Given the description of an element on the screen output the (x, y) to click on. 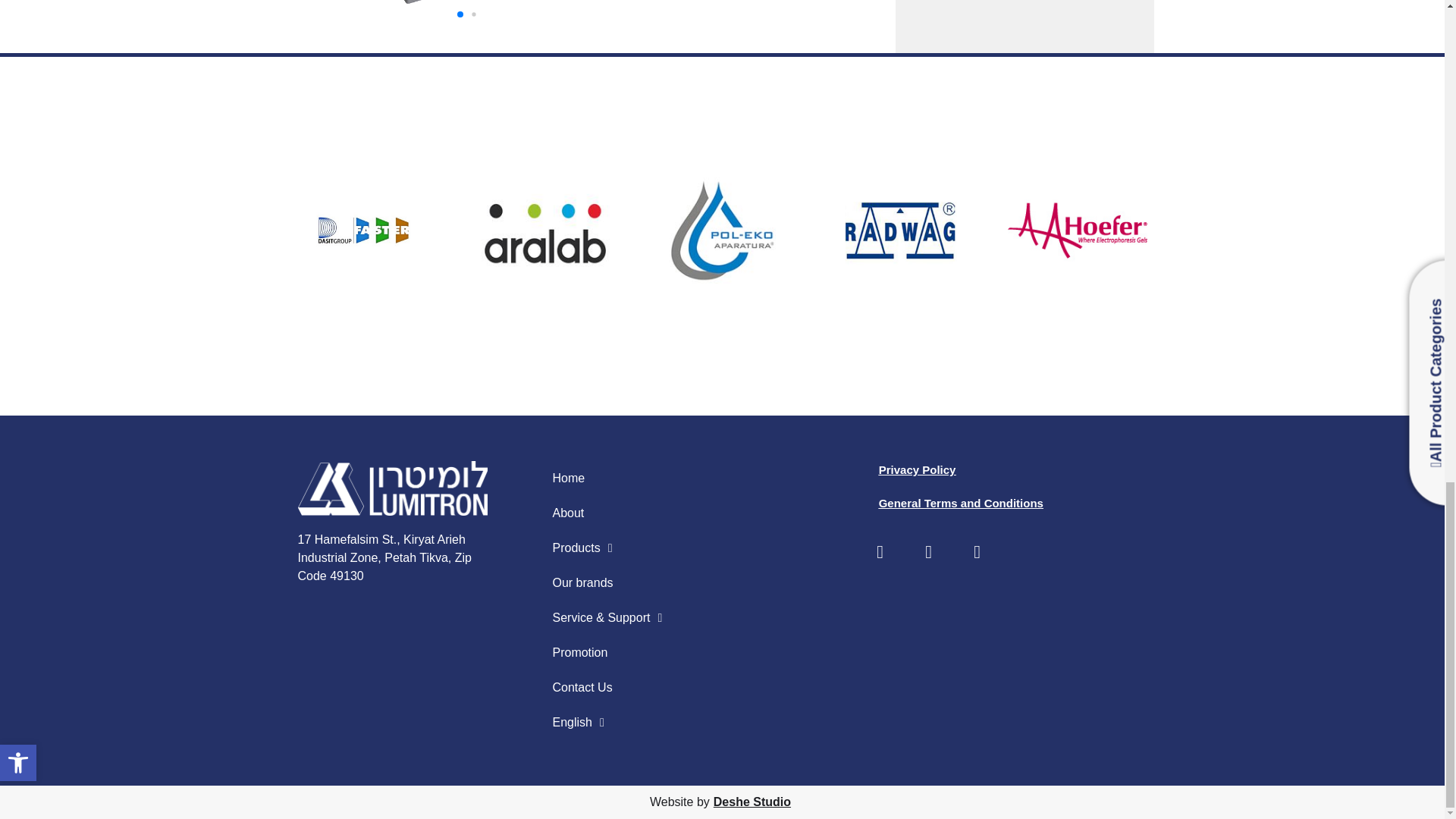
English (607, 722)
